Given the description of an element on the screen output the (x, y) to click on. 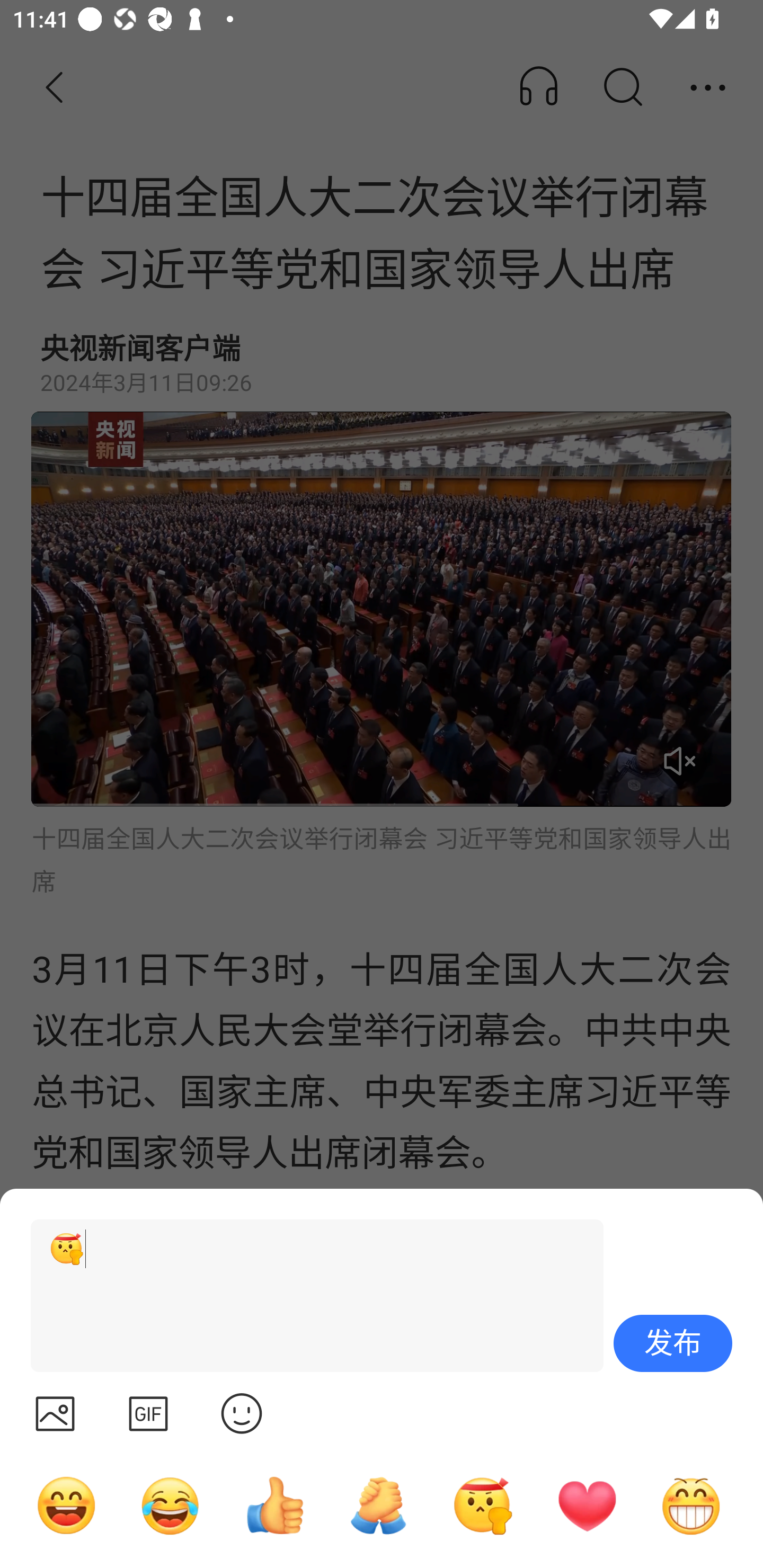
[奋斗] (308, 1295)
发布 (672, 1343)
 (54, 1413)
 (148, 1413)
 (241, 1413)
哈哈 (66, 1505)
哭笑 (170, 1505)
点赞 (274, 1505)
加油 (378, 1505)
奋斗 (482, 1505)
心 (586, 1505)
呲牙 (690, 1505)
